Given the description of an element on the screen output the (x, y) to click on. 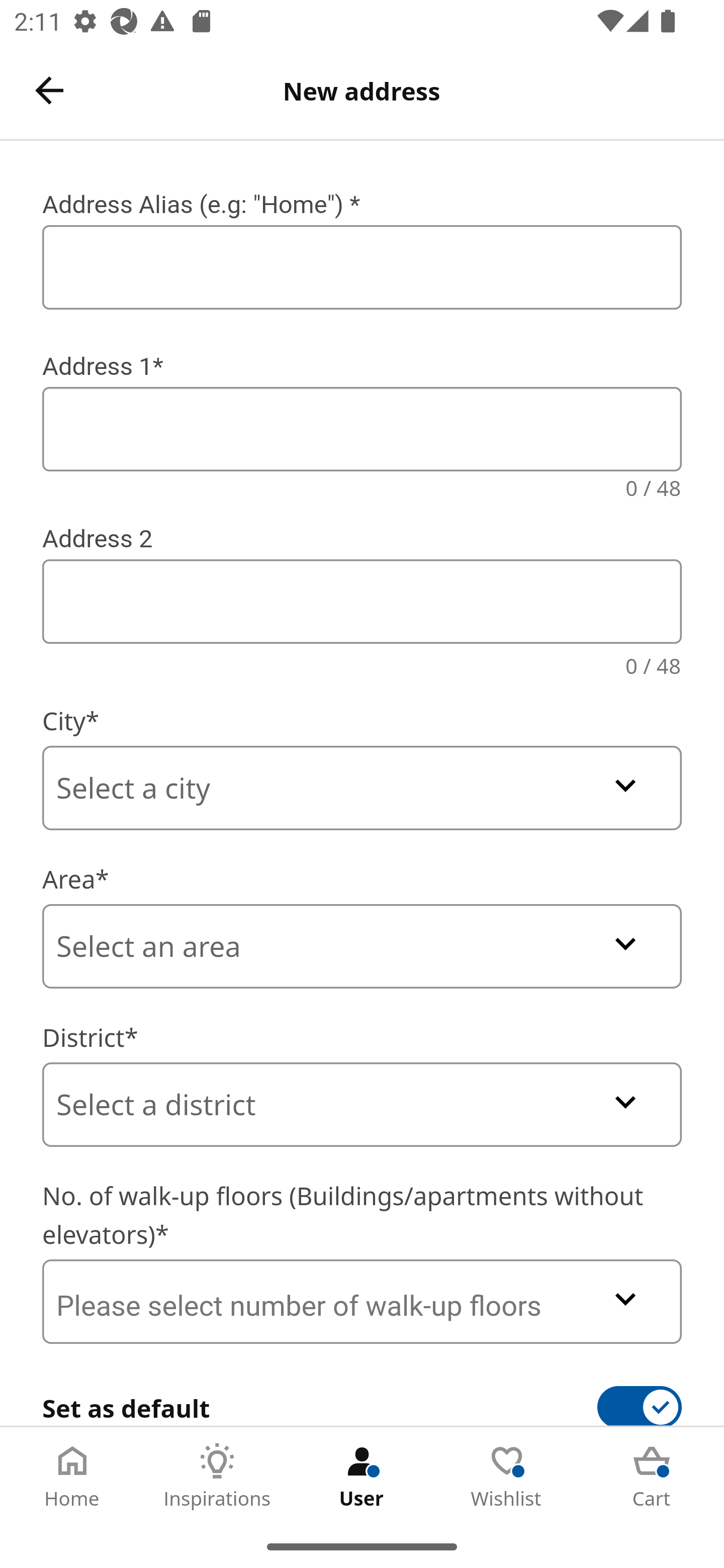
Select a city (361, 787)
Please select number of walk-up floors (361, 1301)
Home
Tab 1 of 5 (72, 1476)
Inspirations
Tab 2 of 5 (216, 1476)
User
Tab 3 of 5 (361, 1476)
Wishlist
Tab 4 of 5 (506, 1476)
Cart
Tab 5 of 5 (651, 1476)
